Given the description of an element on the screen output the (x, y) to click on. 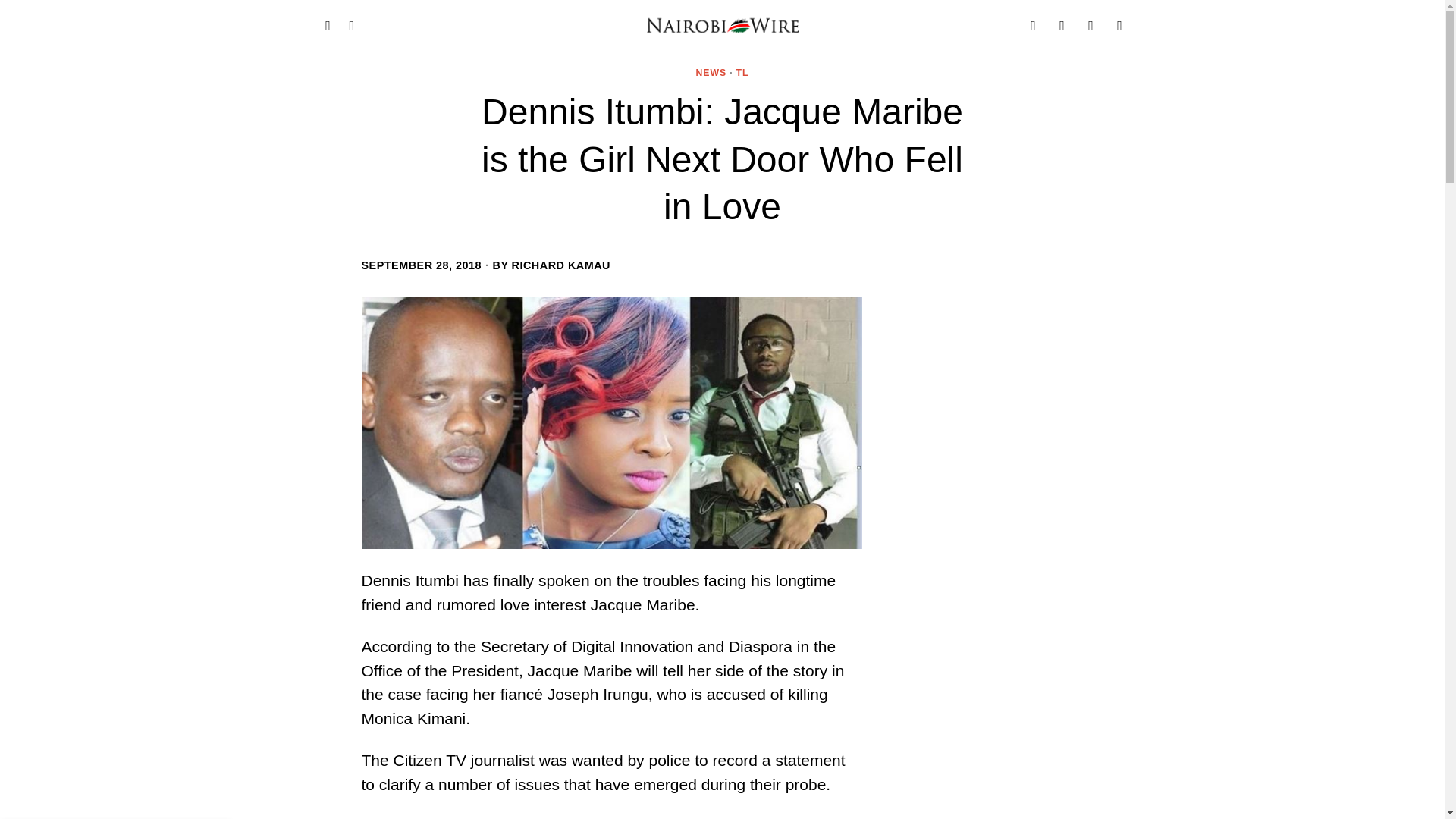
28 Sep, 2018 06:08:47 (421, 264)
RICHARD KAMAU (561, 264)
TL (742, 73)
NEWS (710, 73)
